Given the description of an element on the screen output the (x, y) to click on. 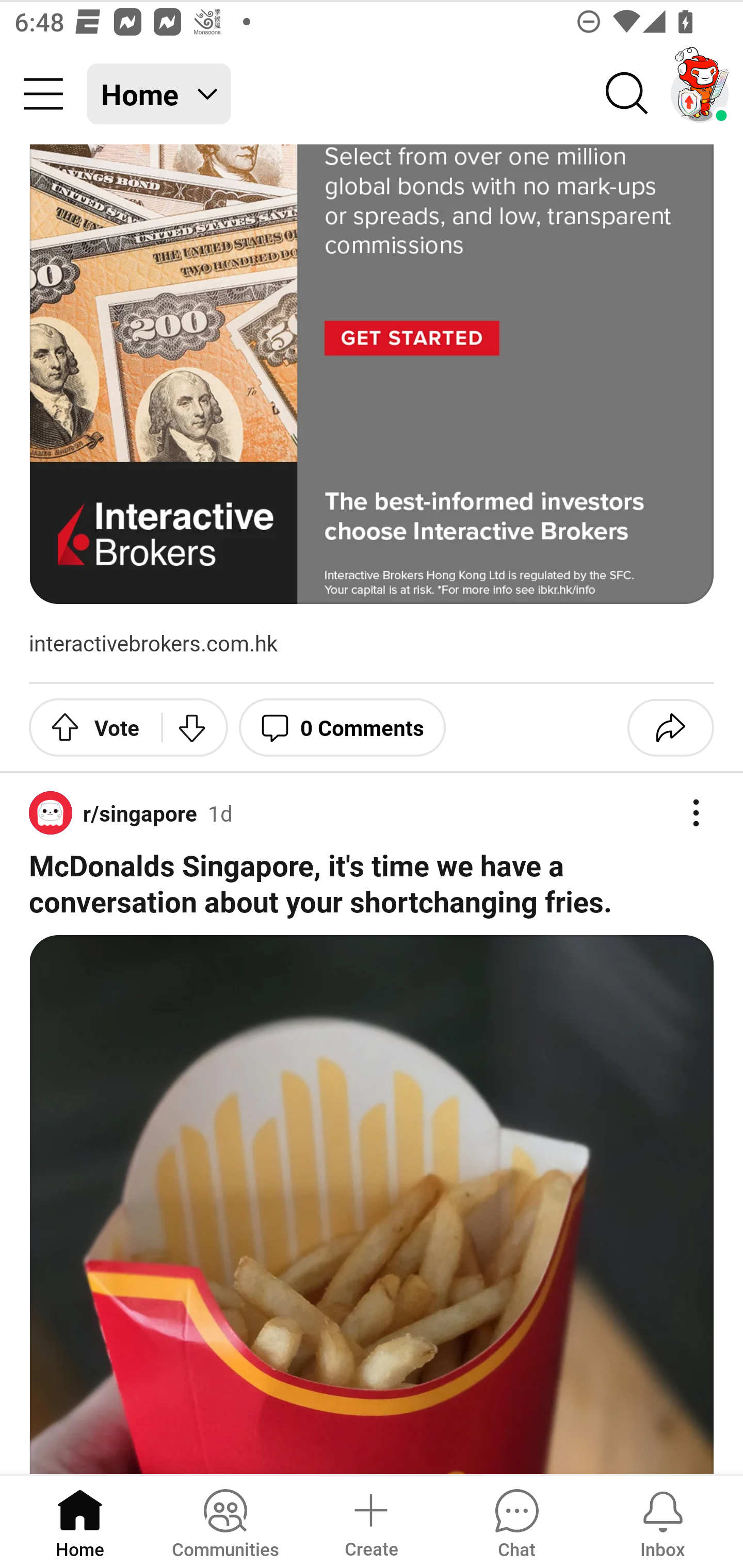
Community menu (43, 93)
Home Home feed (158, 93)
Search (626, 93)
TestAppium002 account (699, 93)
Home (80, 1520)
Communities (225, 1520)
Create a post Create (370, 1520)
Chat (516, 1520)
Inbox (662, 1520)
